Given the description of an element on the screen output the (x, y) to click on. 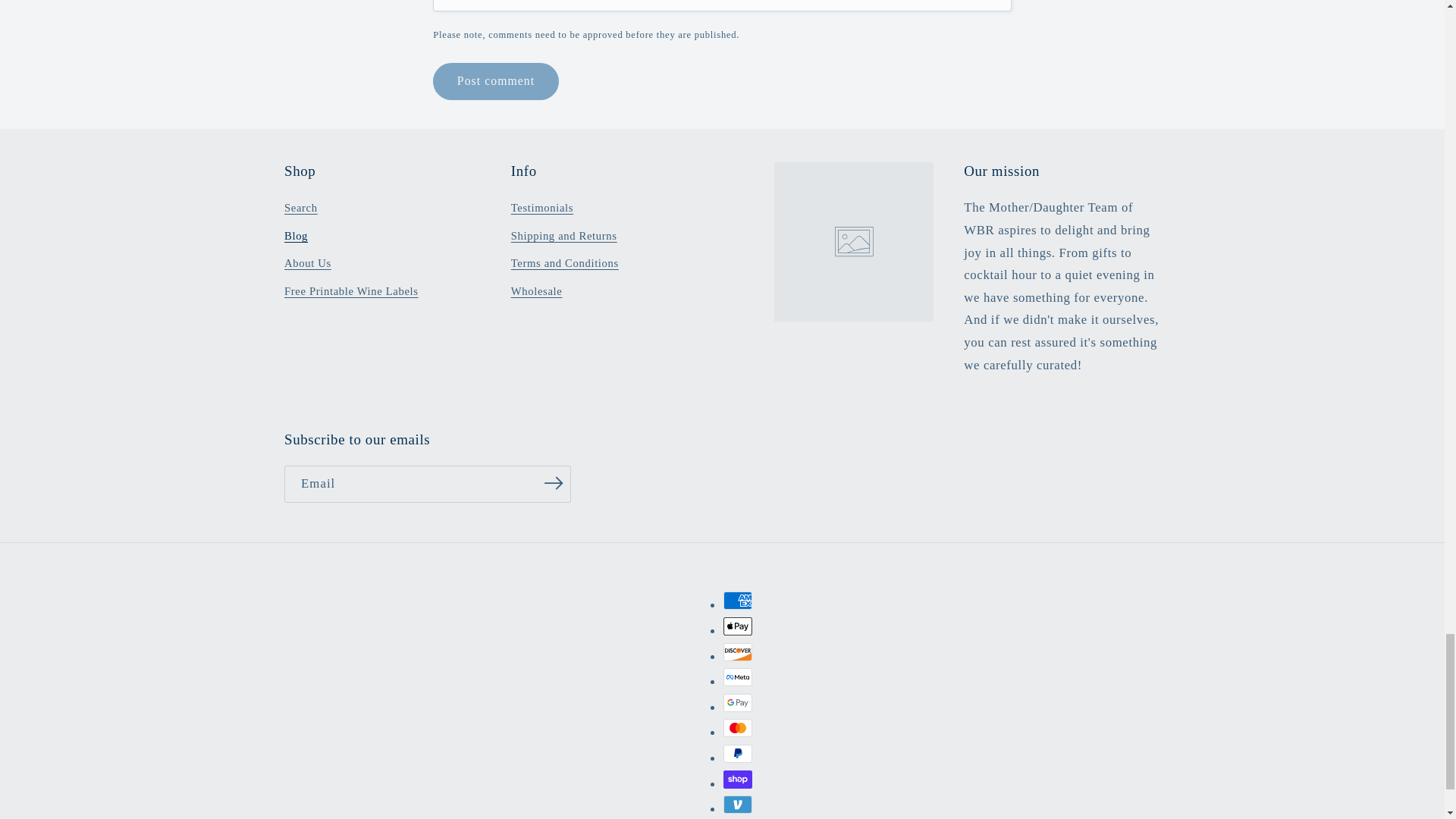
Google Pay (737, 702)
American Express (737, 600)
PayPal (737, 753)
Shop Pay (737, 779)
Discover (737, 651)
Venmo (737, 804)
Apple Pay (737, 626)
Post comment (494, 81)
Meta Pay (737, 677)
Mastercard (737, 728)
